Given the description of an element on the screen output the (x, y) to click on. 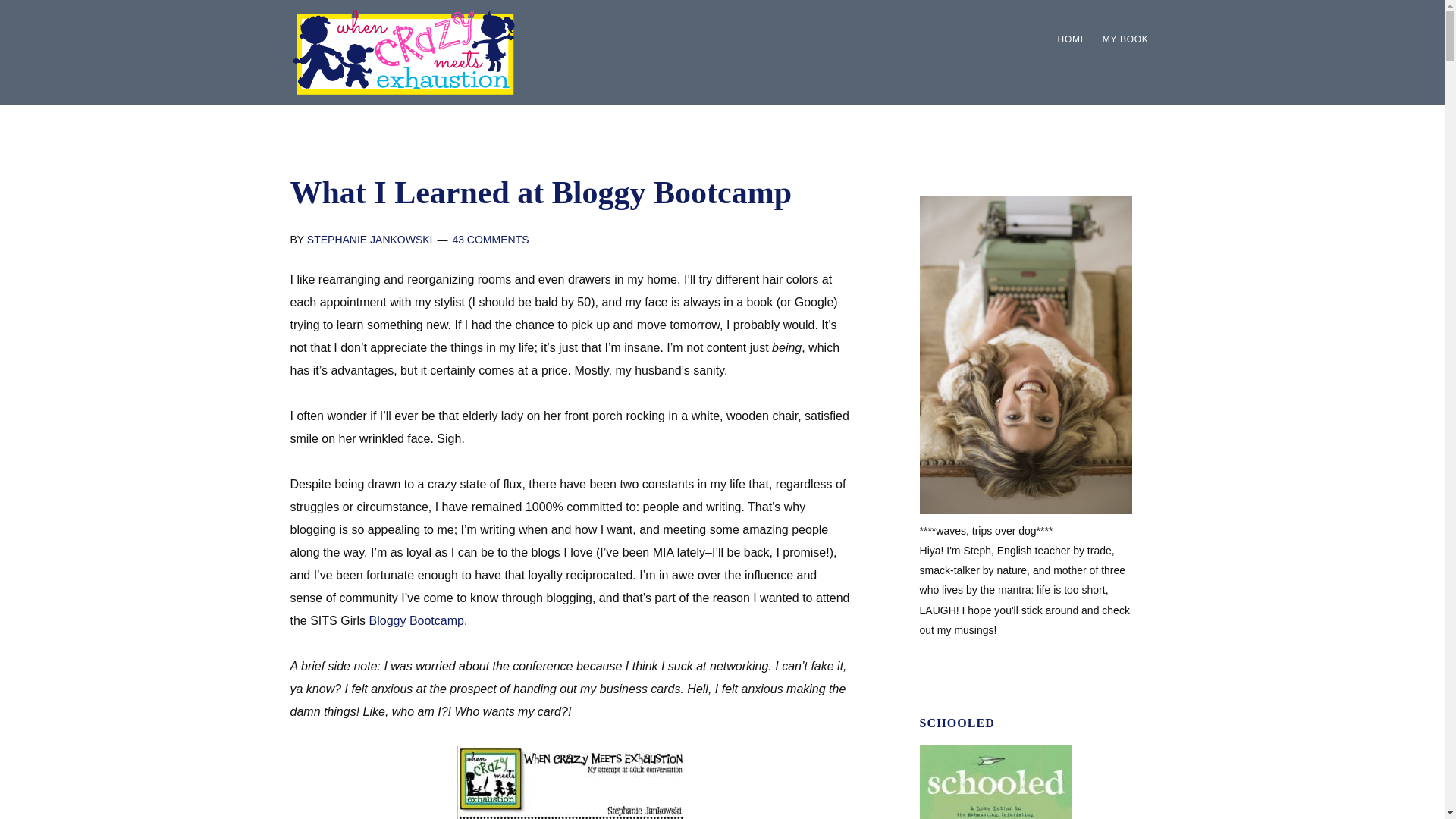
MY BOOK (1125, 39)
WHEN CRAZY MEETS EXHAUSTION (402, 52)
Bloggy Bootcamp (416, 620)
STEPHANIE JANKOWSKI (369, 239)
43 COMMENTS (489, 239)
